Given the description of an element on the screen output the (x, y) to click on. 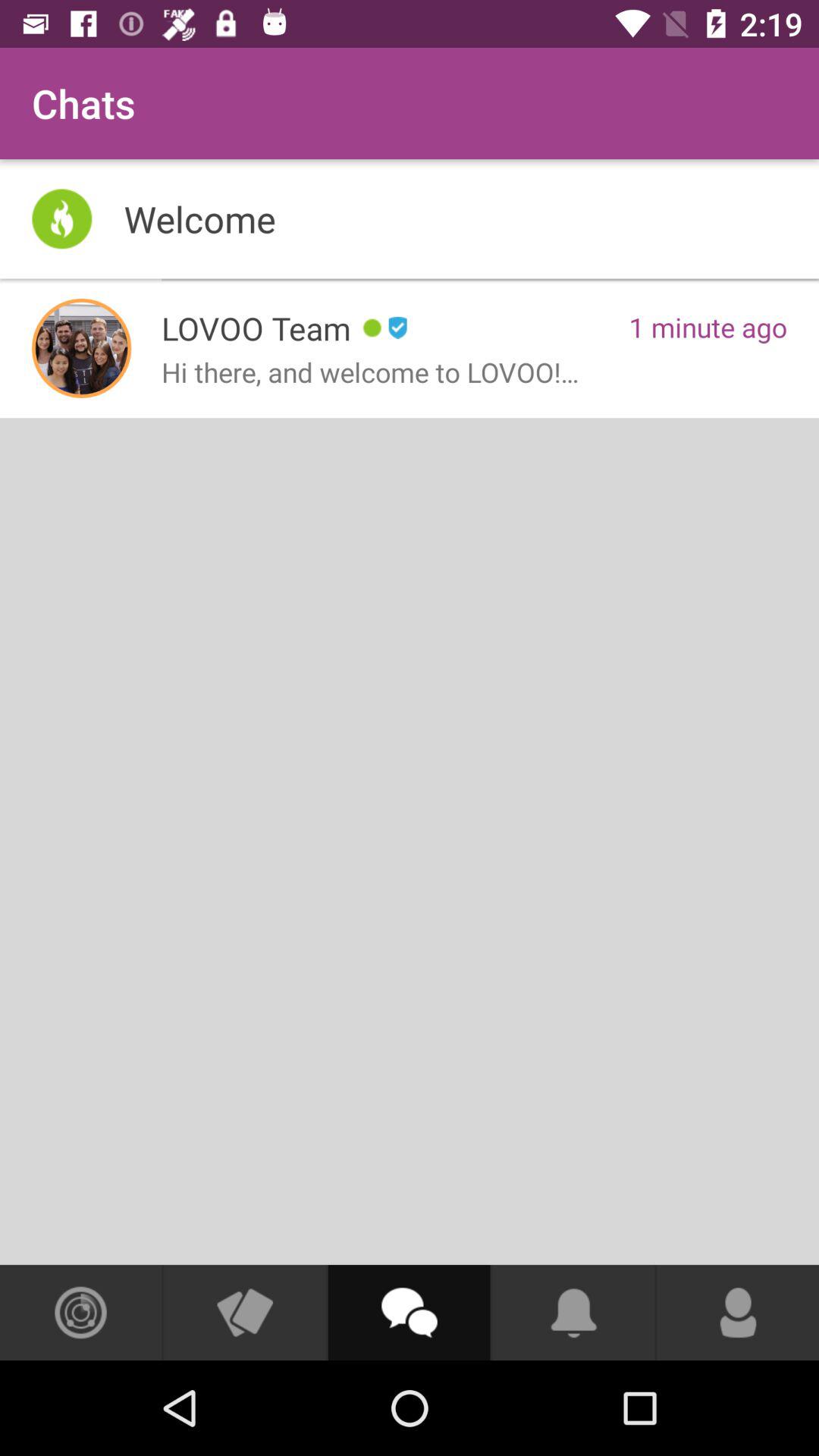
notifications (573, 1312)
